Given the description of an element on the screen output the (x, y) to click on. 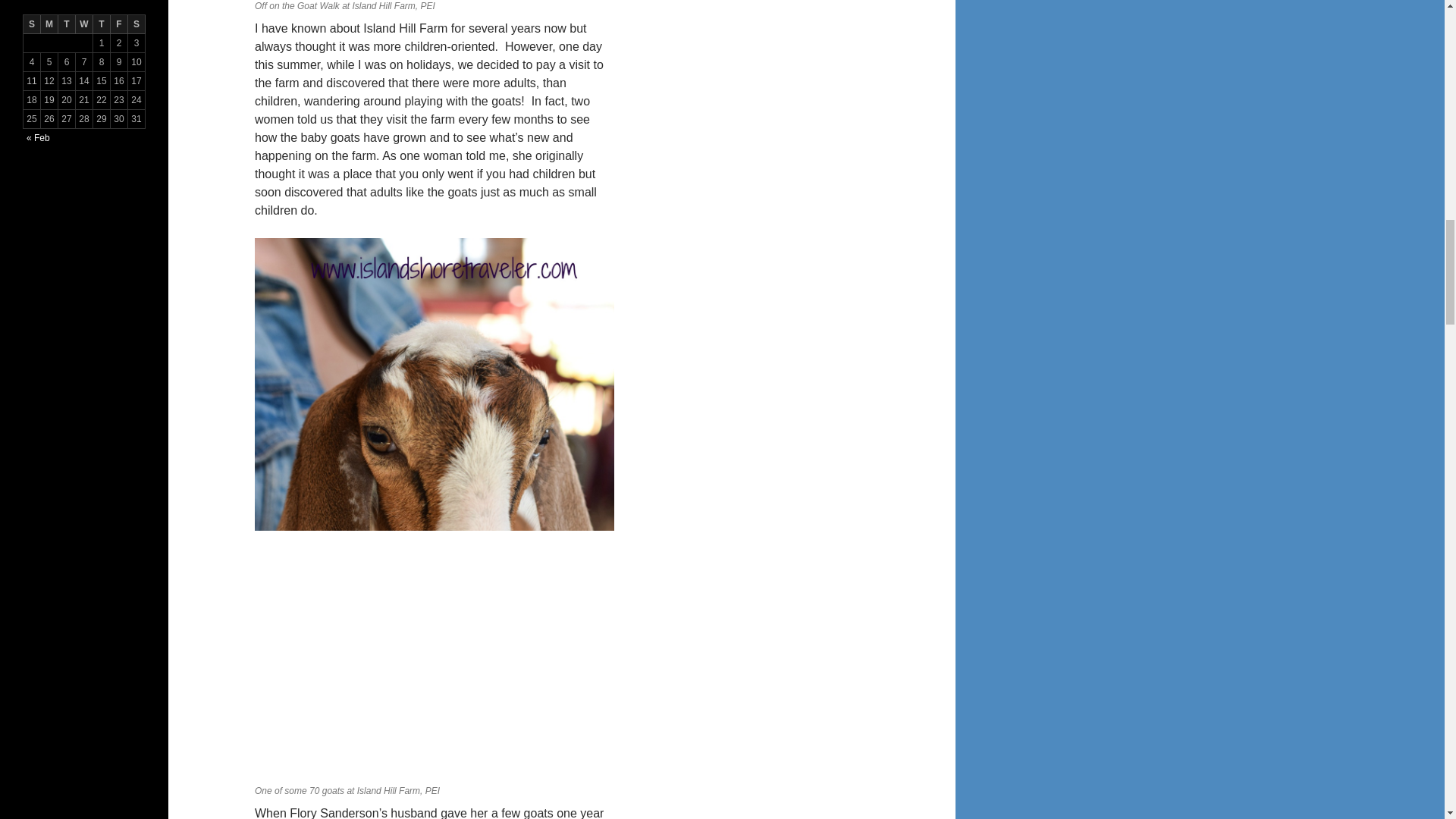
Monday (49, 24)
Thursday (101, 24)
Saturday (136, 24)
Wednesday (84, 24)
Friday (119, 24)
Sunday (31, 24)
Tuesday (66, 24)
